Given the description of an element on the screen output the (x, y) to click on. 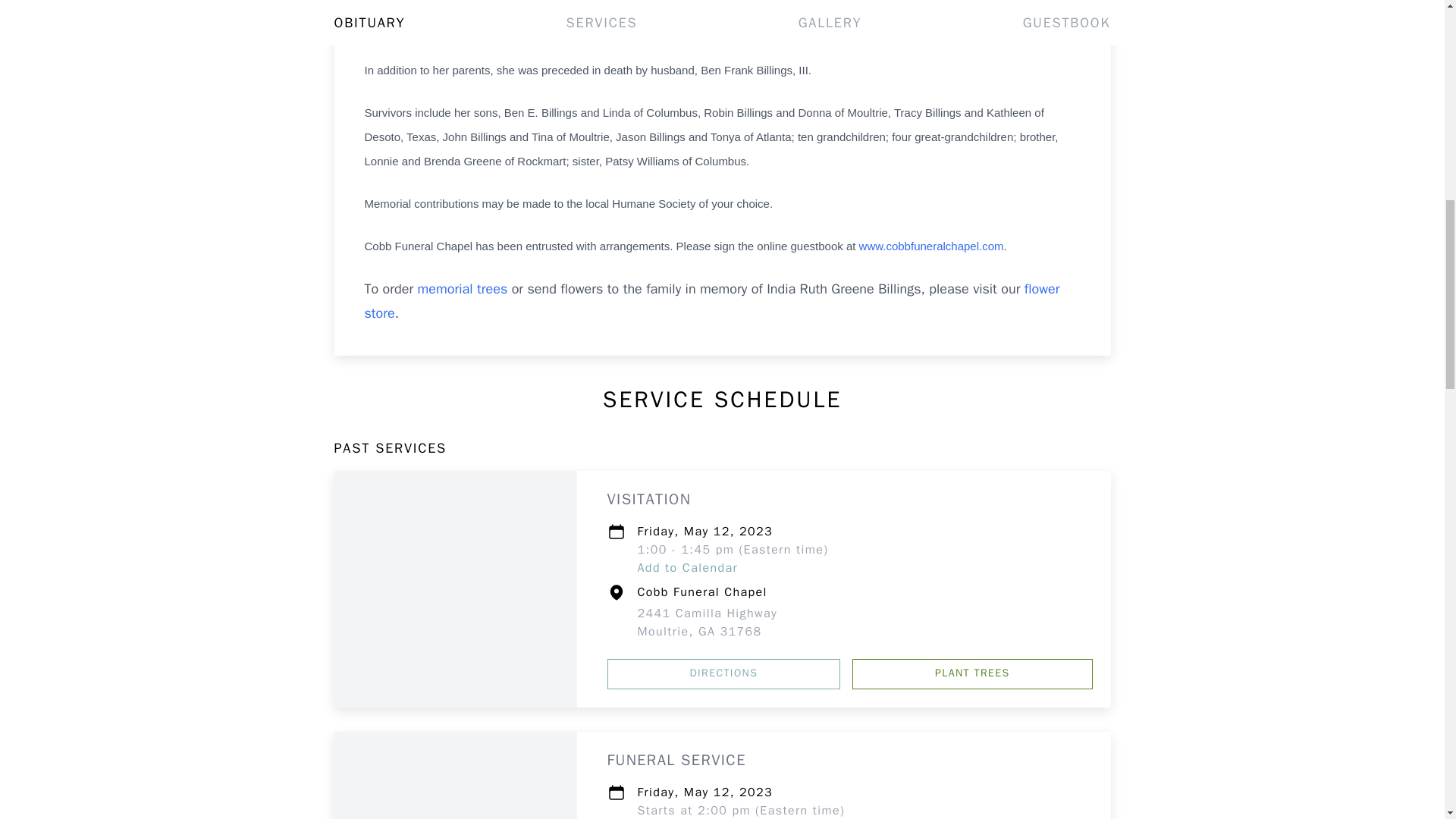
PLANT TREES (971, 674)
flower store (711, 300)
memorial trees (462, 288)
Add to Calendar (707, 622)
DIRECTIONS (687, 567)
www.cobbfuneralchapel.com (723, 674)
